Given the description of an element on the screen output the (x, y) to click on. 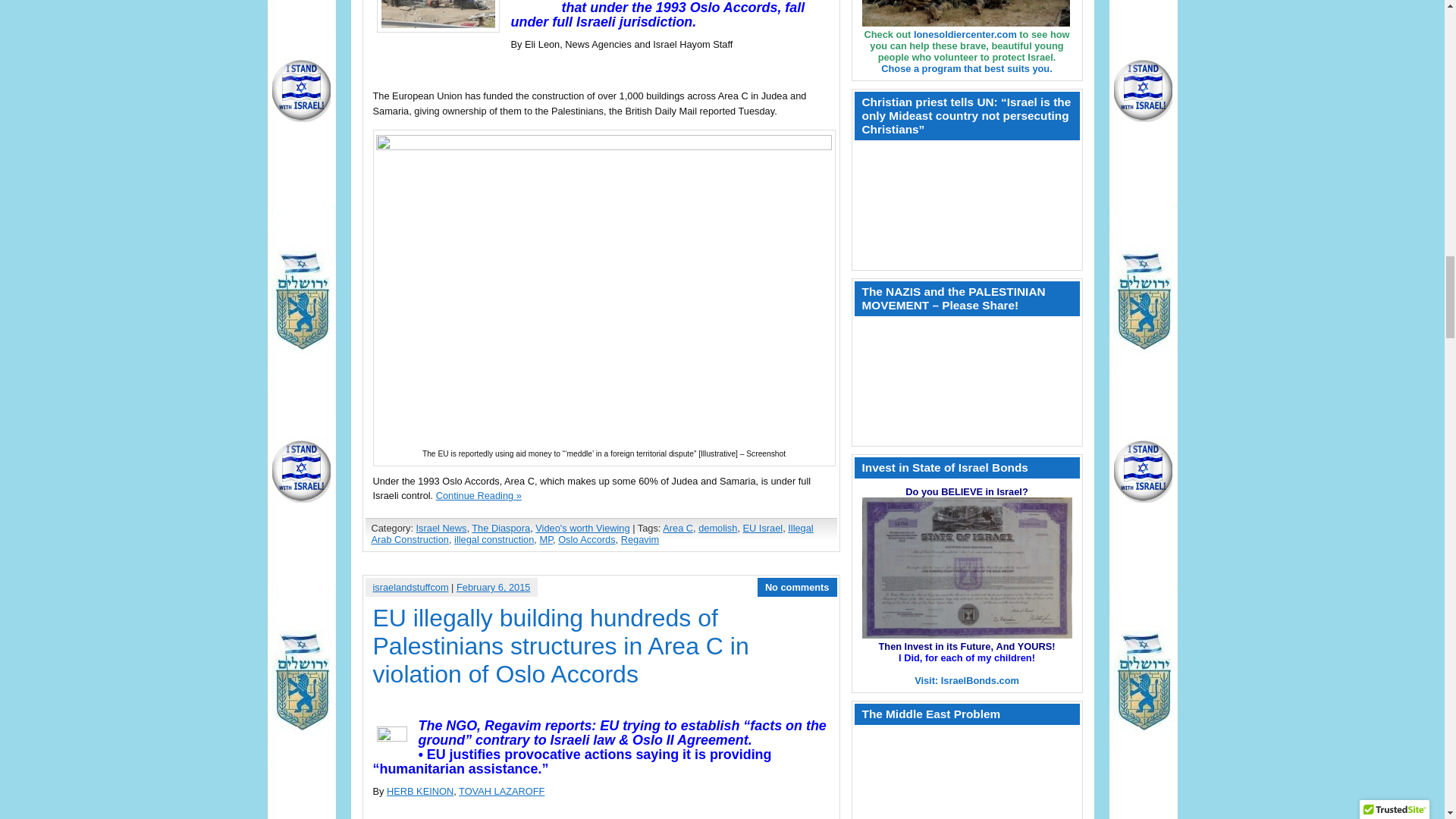
Posts by israelandstuffcom (410, 586)
